Given the description of an element on the screen output the (x, y) to click on. 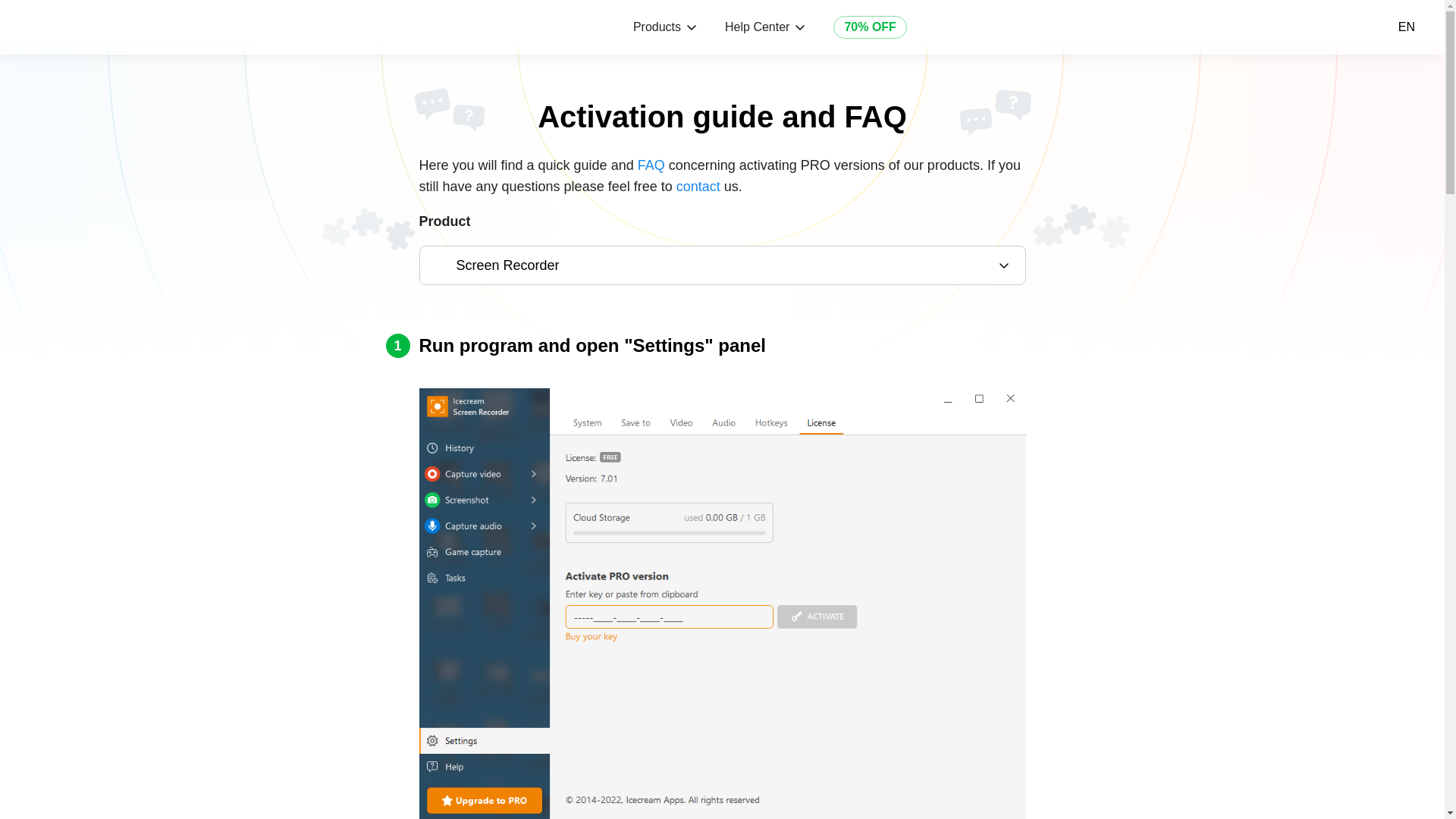
Icecream Apps (89, 27)
